Given the description of an element on the screen output the (x, y) to click on. 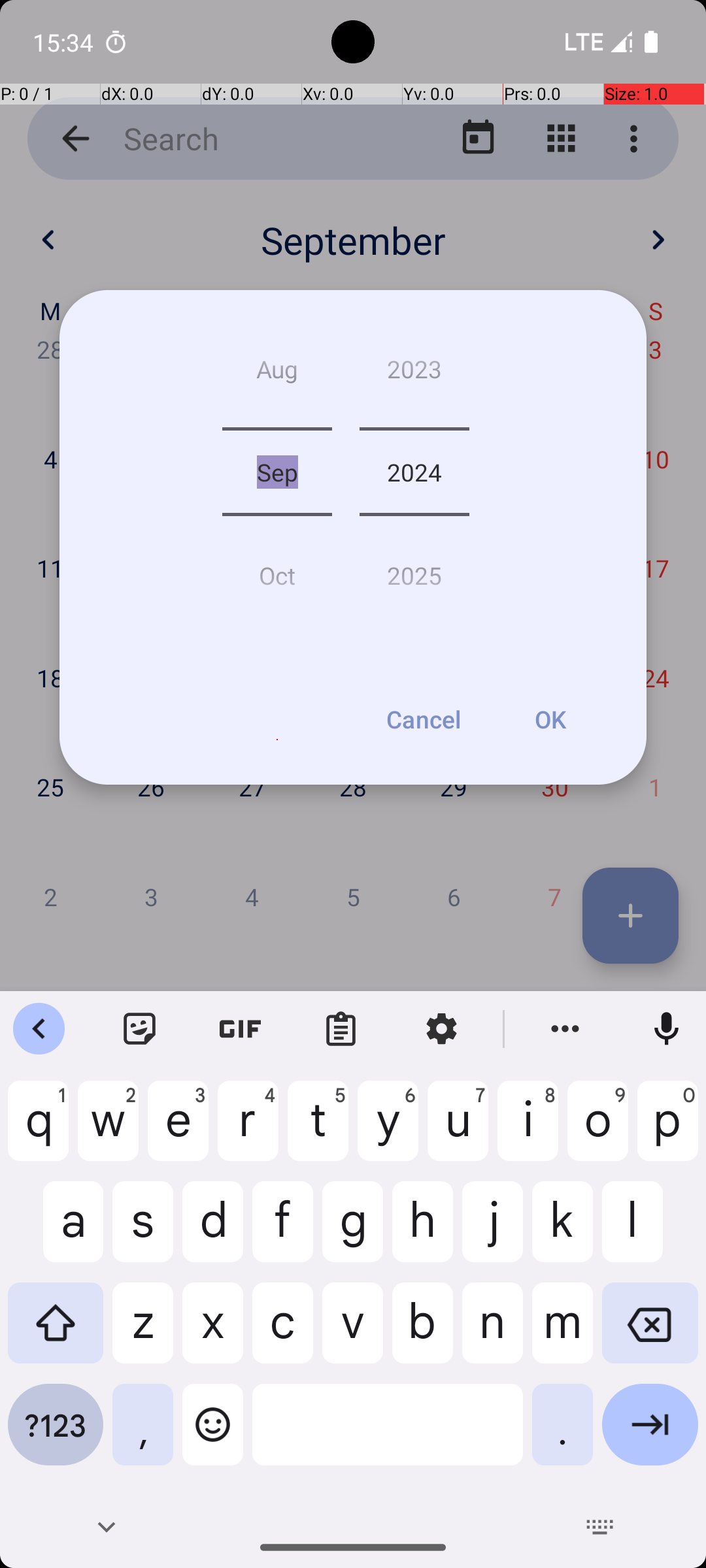
Aug Element type: android.widget.Button (277, 373)
2025 Element type: android.widget.Button (414, 569)
